Given the description of an element on the screen output the (x, y) to click on. 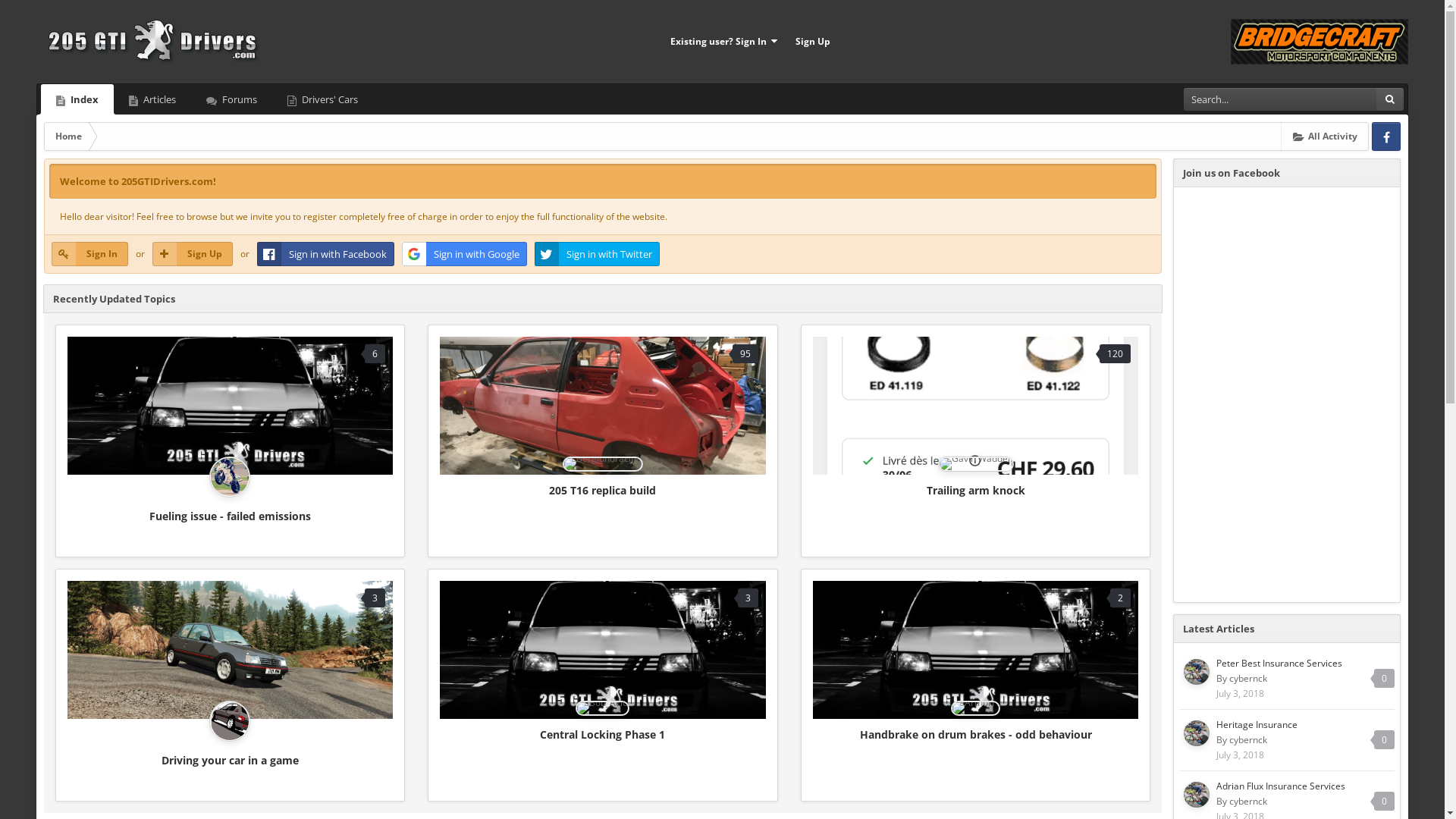
Driving your car in a game Element type: text (229, 760)
All Activity Element type: text (1324, 136)
Peter Best Insurance Services Element type: text (1279, 662)
3 Element type: text (602, 649)
205 T16 replica build Element type: text (602, 490)
Handbrake on drum brakes - odd behaviour Element type: text (975, 734)
3 Element type: text (229, 649)
Existing user? Sign In   Element type: text (723, 41)
Sign In Element type: text (89, 253)
Index Element type: text (76, 99)
Fueling issue - failed emissions Element type: text (229, 515)
Central Locking Phase 1 Element type: text (602, 734)
Trailing arm knock Element type: text (975, 490)
Sign in with Google Element type: text (464, 253)
Adrian Flux Insurance Services Element type: text (1280, 785)
Articles Element type: text (152, 99)
2 Element type: text (975, 649)
Facebook Element type: text (1385, 136)
Sign Up Element type: text (812, 41)
Sign in with Facebook Element type: text (325, 253)
Forums Element type: text (231, 99)
Sign Up Element type: text (192, 253)
Heritage Insurance Element type: text (1256, 724)
6 Element type: text (229, 405)
120 Element type: text (975, 405)
95 Element type: text (602, 405)
Sign in with Twitter Element type: text (596, 253)
Home Element type: text (68, 136)
Drivers' Cars Element type: text (322, 99)
